Given the description of an element on the screen output the (x, y) to click on. 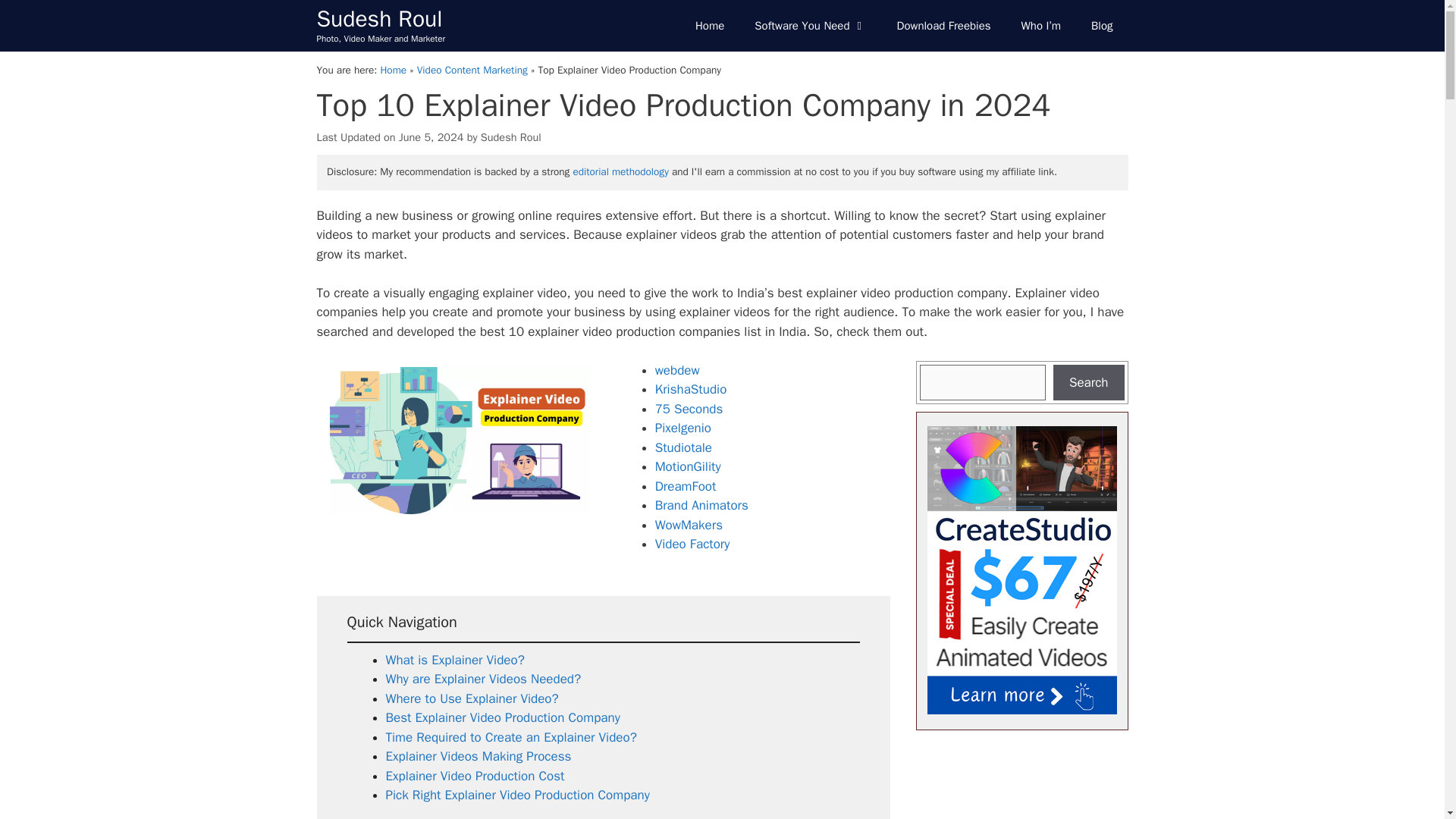
Best Explainer Video Production Company (502, 717)
webdew (677, 370)
Home (709, 25)
Video Content Marketing (471, 69)
Where to Use Explainer Video? (471, 698)
DreamFoot (685, 486)
Pixelgenio (683, 427)
View all posts by Sudesh Roul (510, 137)
Video Factory (692, 544)
Studiotale (683, 447)
